Given the description of an element on the screen output the (x, y) to click on. 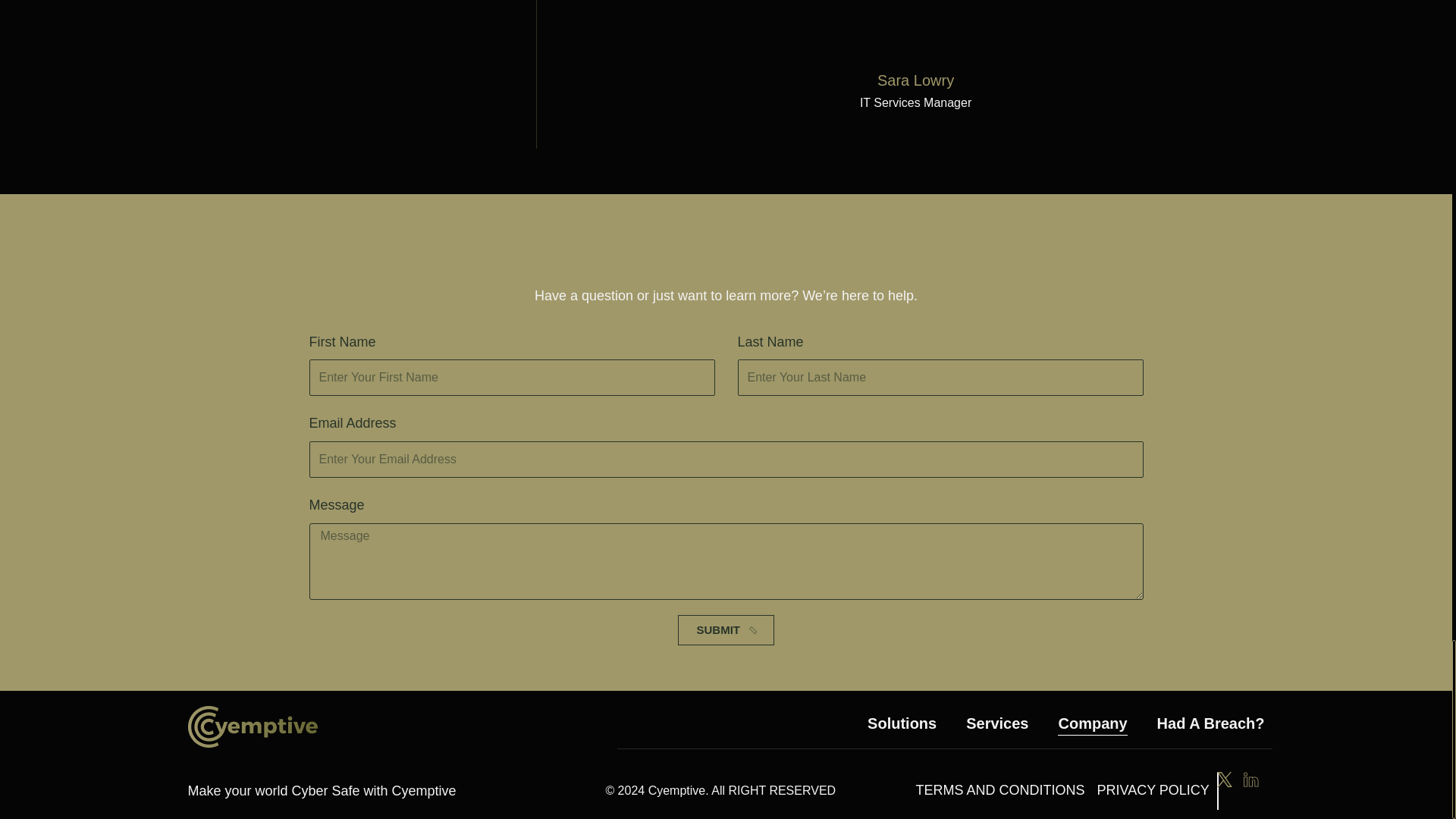
Company (1092, 723)
Solutions (901, 723)
Services (996, 723)
SUBMIT (726, 630)
Had A Breach? (1211, 723)
